Given the description of an element on the screen output the (x, y) to click on. 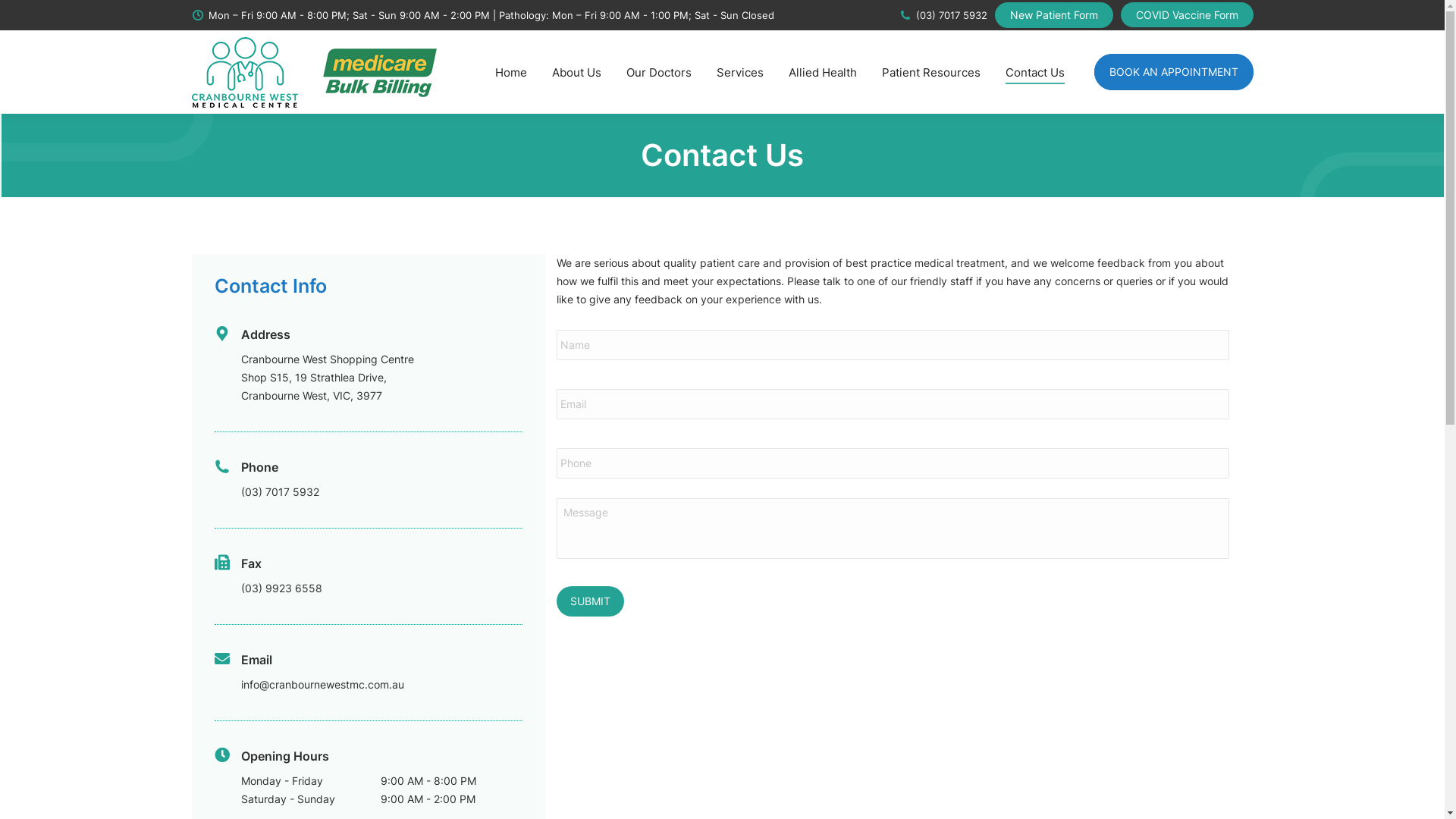
(03) 7017 5932 Element type: text (942, 14)
Email Element type: text (256, 659)
Patient Resources Element type: text (930, 71)
Submit Element type: text (590, 601)
Allied Health Element type: text (822, 71)
Phone Element type: text (259, 466)
About Us Element type: text (576, 71)
Contact Us Element type: text (1034, 71)
Our Doctors Element type: text (658, 71)
Services Element type: text (738, 71)
BOOK AN APPOINTMENT Element type: text (1172, 71)
Home Element type: text (510, 71)
New Patient Form Element type: text (1053, 15)
COVID Vaccine Form Element type: text (1186, 14)
